Given the description of an element on the screen output the (x, y) to click on. 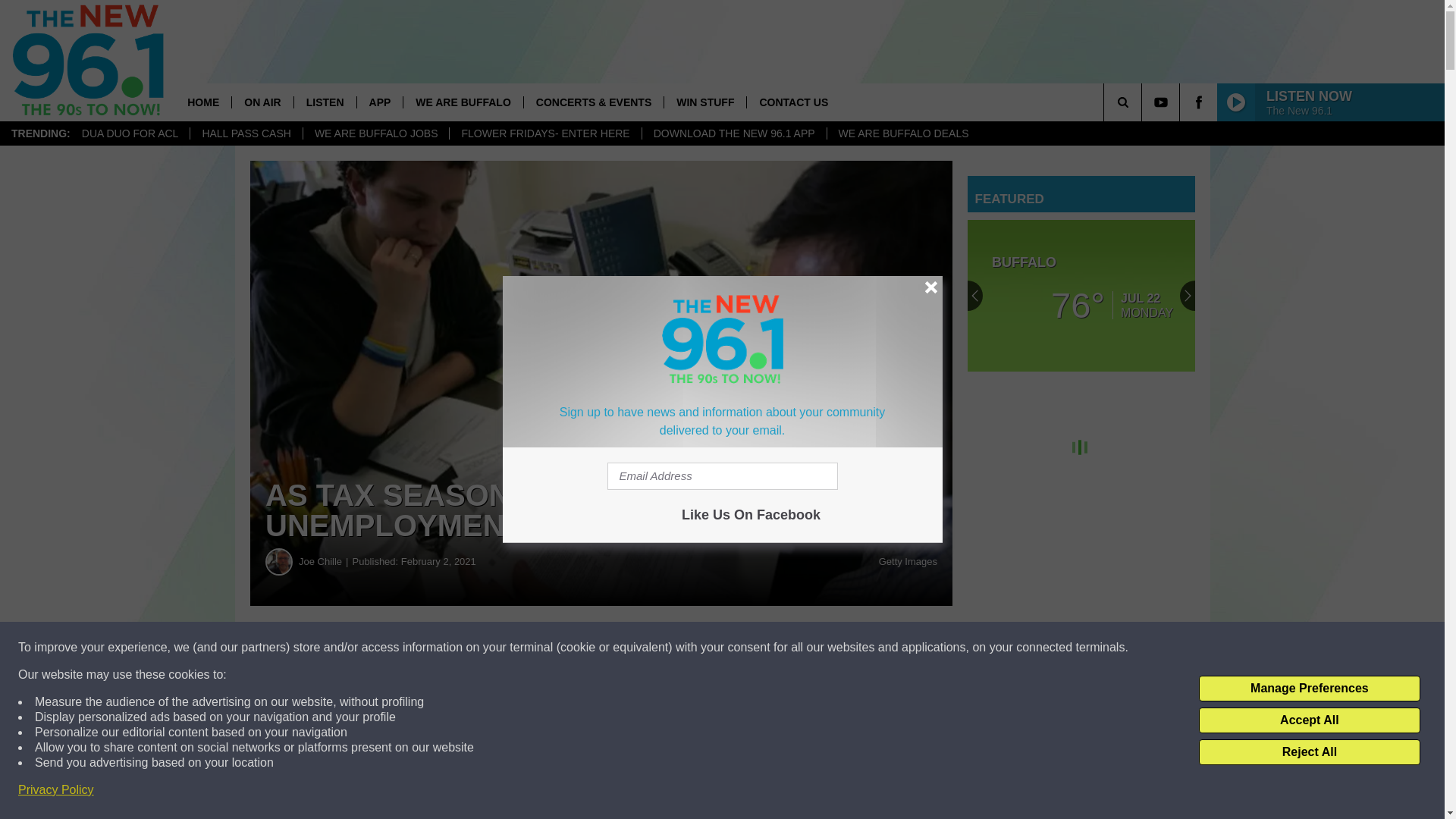
FLOWER FRIDAYS- ENTER HERE (544, 133)
DOWNLOAD THE NEW 96.1 APP (734, 133)
WE ARE BUFFALO (462, 102)
CONTACT US (792, 102)
Accept All (1309, 720)
WIN STUFF (704, 102)
LISTEN (325, 102)
Email Address (722, 475)
Manage Preferences (1309, 688)
Share on Facebook (460, 647)
SEARCH (1144, 102)
Privacy Policy (55, 789)
Share on Twitter (741, 647)
Buffalo Weather (1081, 295)
Reject All (1309, 751)
